Given the description of an element on the screen output the (x, y) to click on. 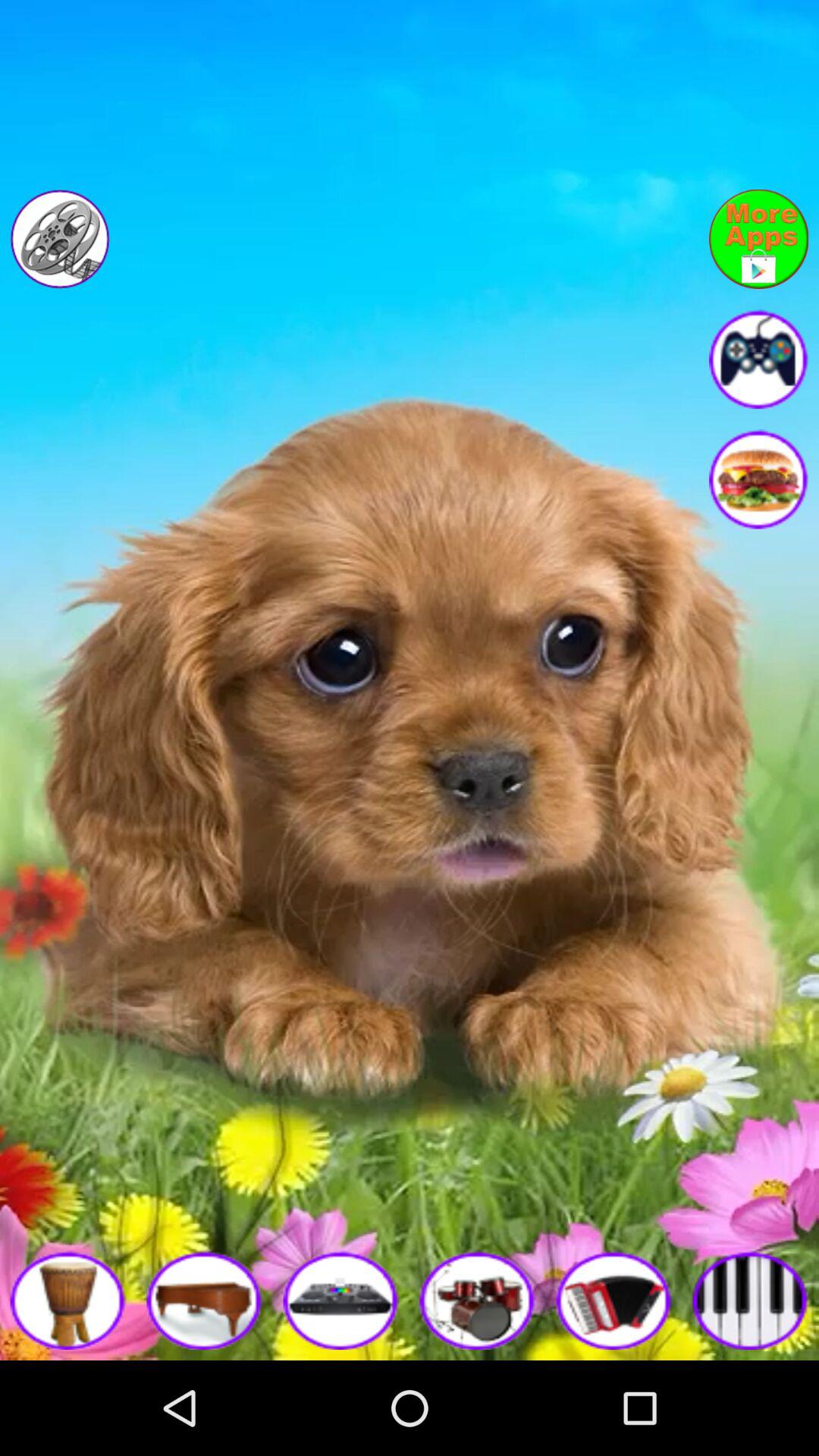
game (341, 1300)
